Given the description of an element on the screen output the (x, y) to click on. 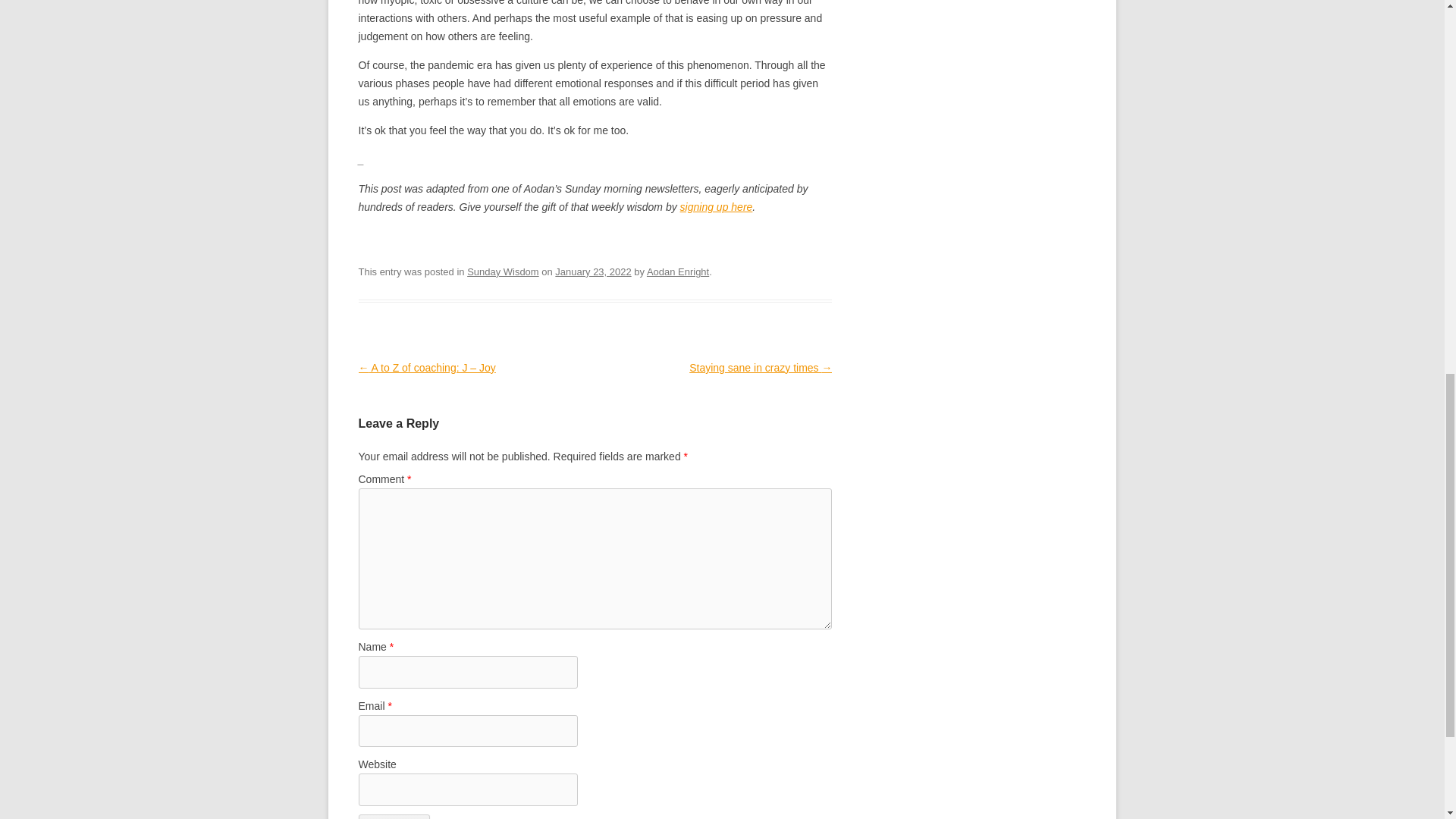
January 23, 2022 (592, 271)
Post Comment (393, 816)
Post Comment (393, 816)
Aodan Enright (677, 271)
View all posts by Aodan Enright (677, 271)
Sunday Wisdom (502, 271)
signing up here (715, 206)
7:00 am (592, 271)
